Given the description of an element on the screen output the (x, y) to click on. 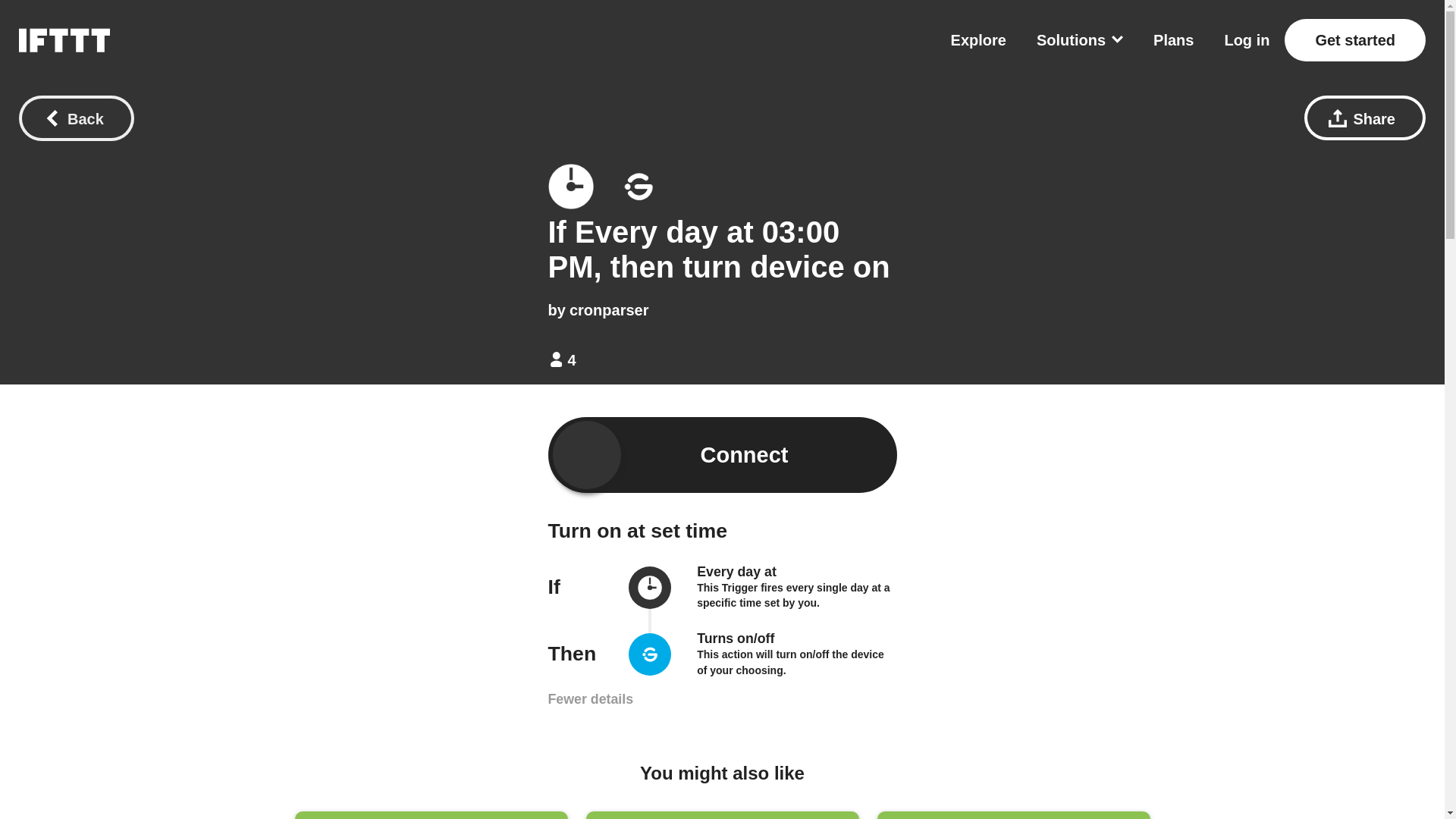
cronparser (609, 310)
Share (1364, 117)
Home (64, 40)
Every day at (736, 571)
Every day at (736, 571)
Plans (1173, 39)
Explore (978, 39)
Govee Home (649, 656)
Get started (1354, 39)
Log in (722, 815)
Back (1246, 39)
Solutions (75, 117)
Fewer details (1079, 39)
